Given the description of an element on the screen output the (x, y) to click on. 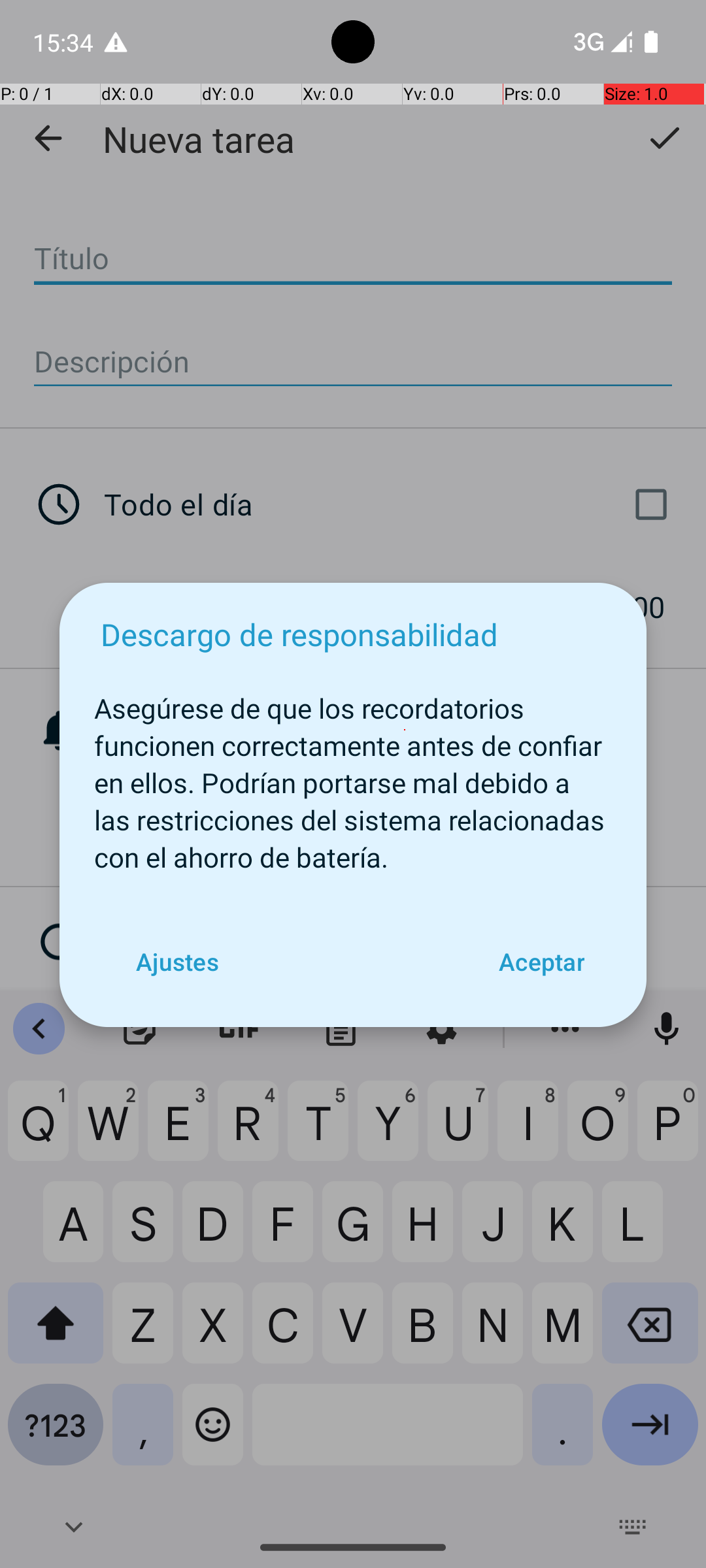
Descargo de responsabilidad Element type: android.widget.TextView (299, 633)
Asegúrese de que los recordatorios funcionen correctamente antes de confiar en ellos. Podrían portarse mal debido a las restricciones del sistema relacionadas con el ahorro de batería. Element type: android.widget.TextView (352, 775)
Aceptar Element type: android.widget.Button (541, 961)
